Given the description of an element on the screen output the (x, y) to click on. 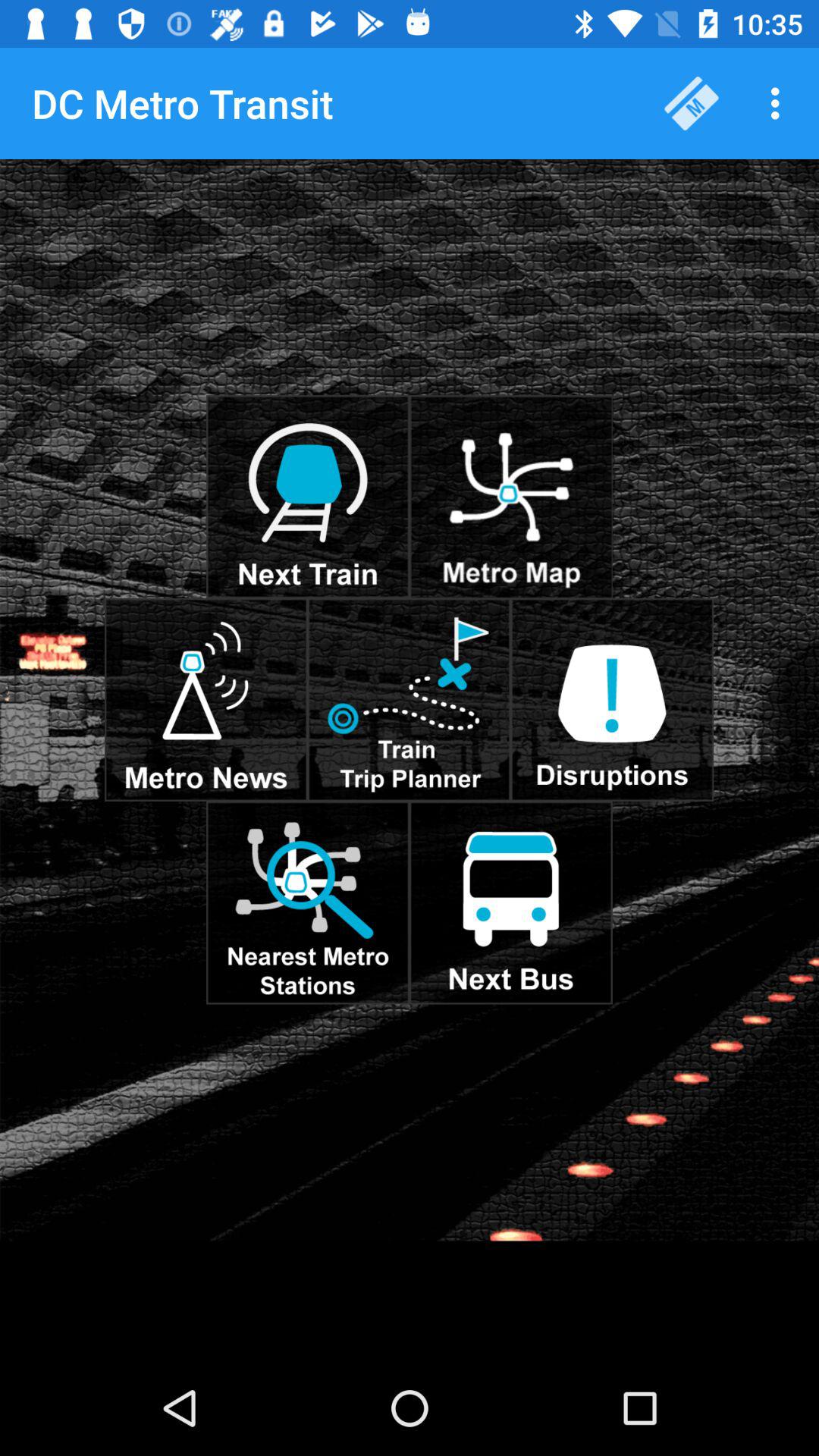
find next train (307, 496)
